Given the description of an element on the screen output the (x, y) to click on. 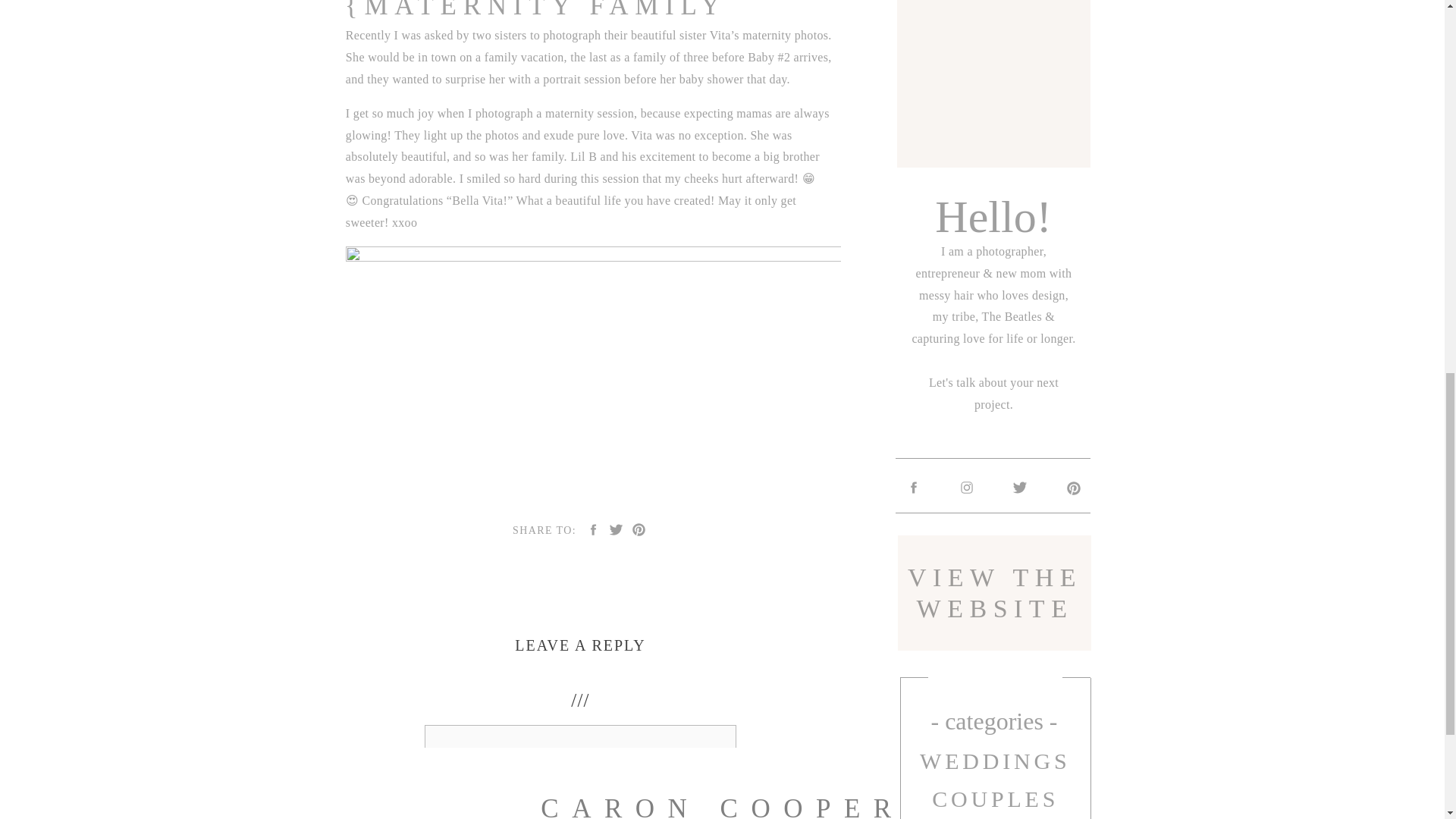
COUPLES (995, 798)
VIEW THE WEBSITE (994, 593)
WEDDINGS (994, 760)
